Given the description of an element on the screen output the (x, y) to click on. 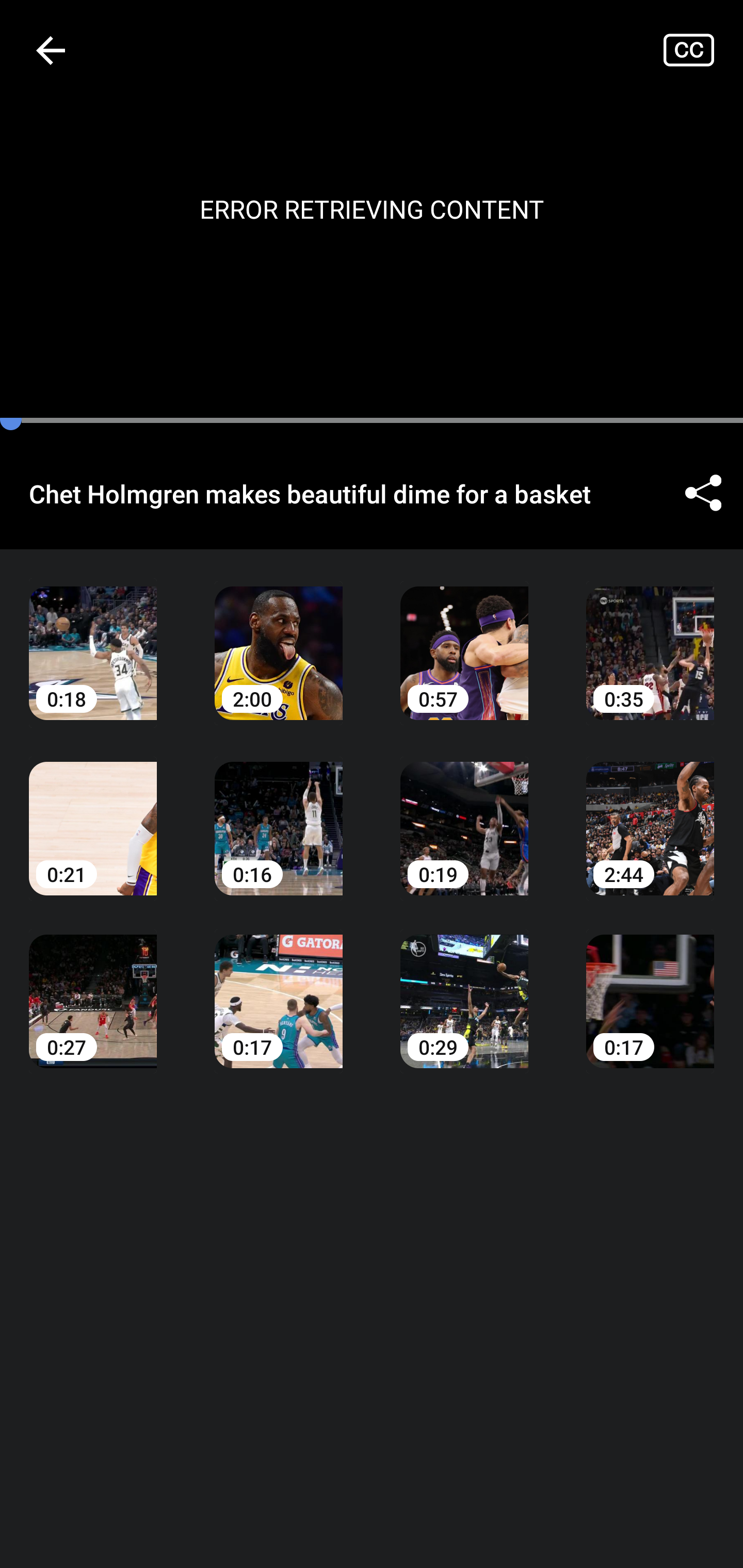
Navigate up (50, 50)
Closed captions  (703, 49)
Share © (703, 493)
0:18 (92, 637)
2:00 (278, 637)
0:57 (464, 637)
0:35 (650, 637)
0:21 (92, 813)
0:16 (278, 813)
0:19 (464, 813)
2:44 (650, 813)
0:27 (92, 987)
0:17 (278, 987)
0:29 (464, 987)
0:17 (650, 987)
